Given the description of an element on the screen output the (x, y) to click on. 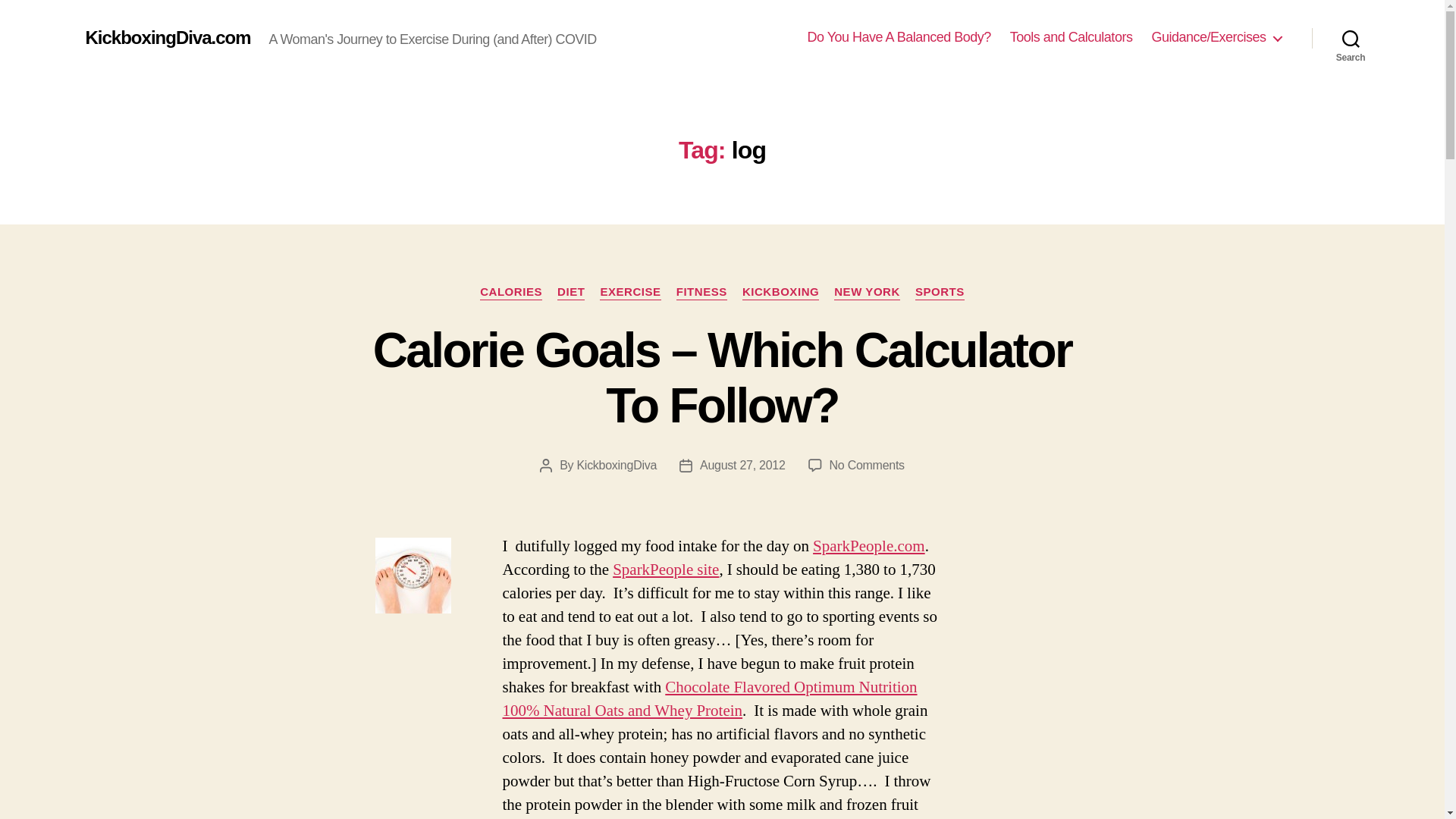
NEW YORK (866, 292)
SparkPeople.com (868, 546)
DIET (571, 292)
FITNESS (701, 292)
SPORTS (939, 292)
CALORIES (510, 292)
SparkPeople.com Nutrition (665, 569)
EXERCISE (630, 292)
Which BMR calculator? (413, 575)
Optimum Nutrition Chocolate Oat and Whey Protein (709, 699)
Tools and Calculators (1071, 37)
KickboxingDiva.com (167, 37)
KICKBOXING (780, 292)
August 27, 2012 (743, 464)
KickboxingDiva (616, 464)
